Given the description of an element on the screen output the (x, y) to click on. 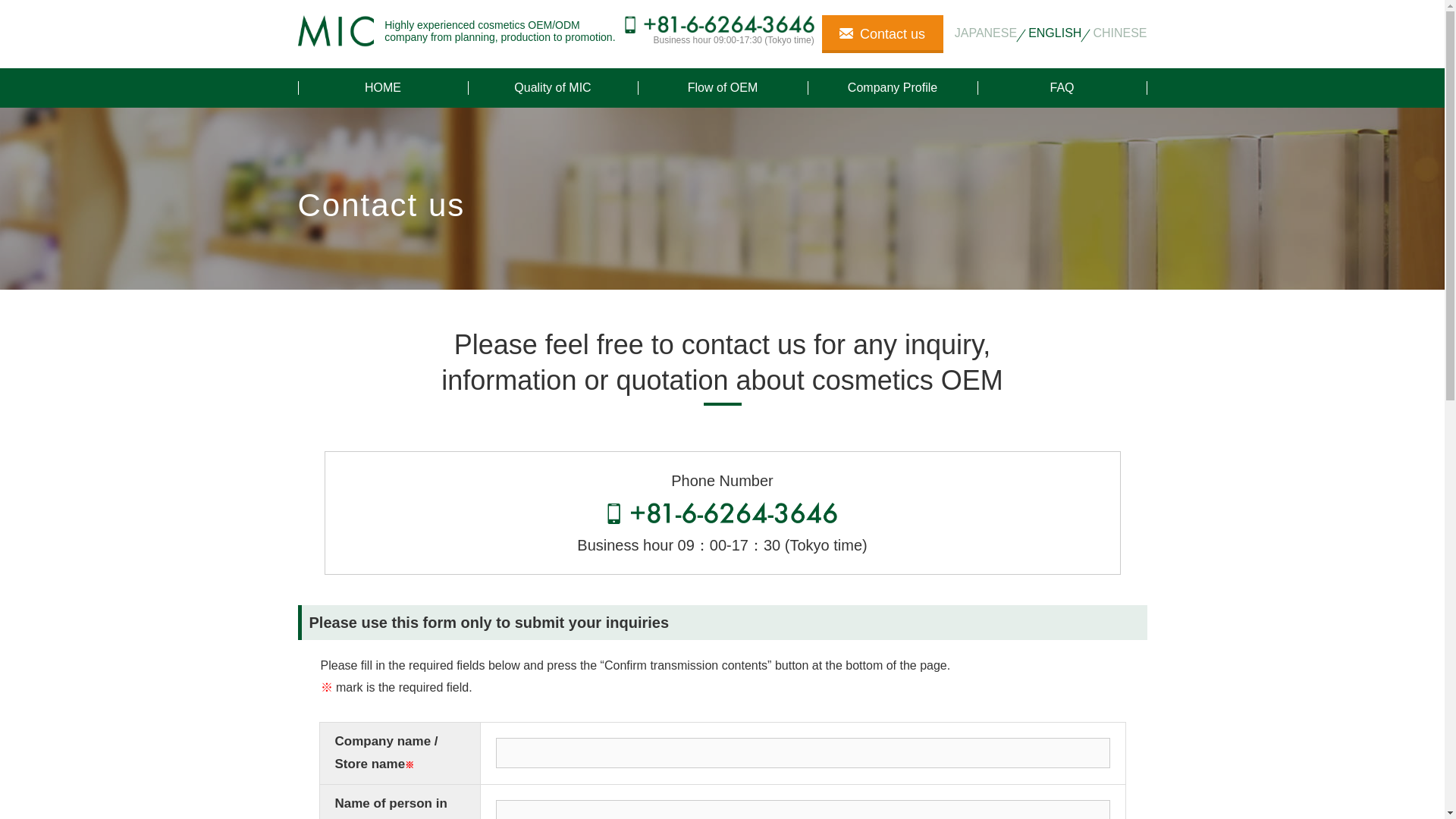
CHINESE (1120, 33)
ENGLISH (1054, 33)
FAQ (1061, 87)
Company Profile (891, 87)
Quality of MIC (552, 87)
HOME (382, 87)
Flow of OEM (721, 87)
Contact us (882, 34)
JAPANESE (985, 33)
